Given the description of an element on the screen output the (x, y) to click on. 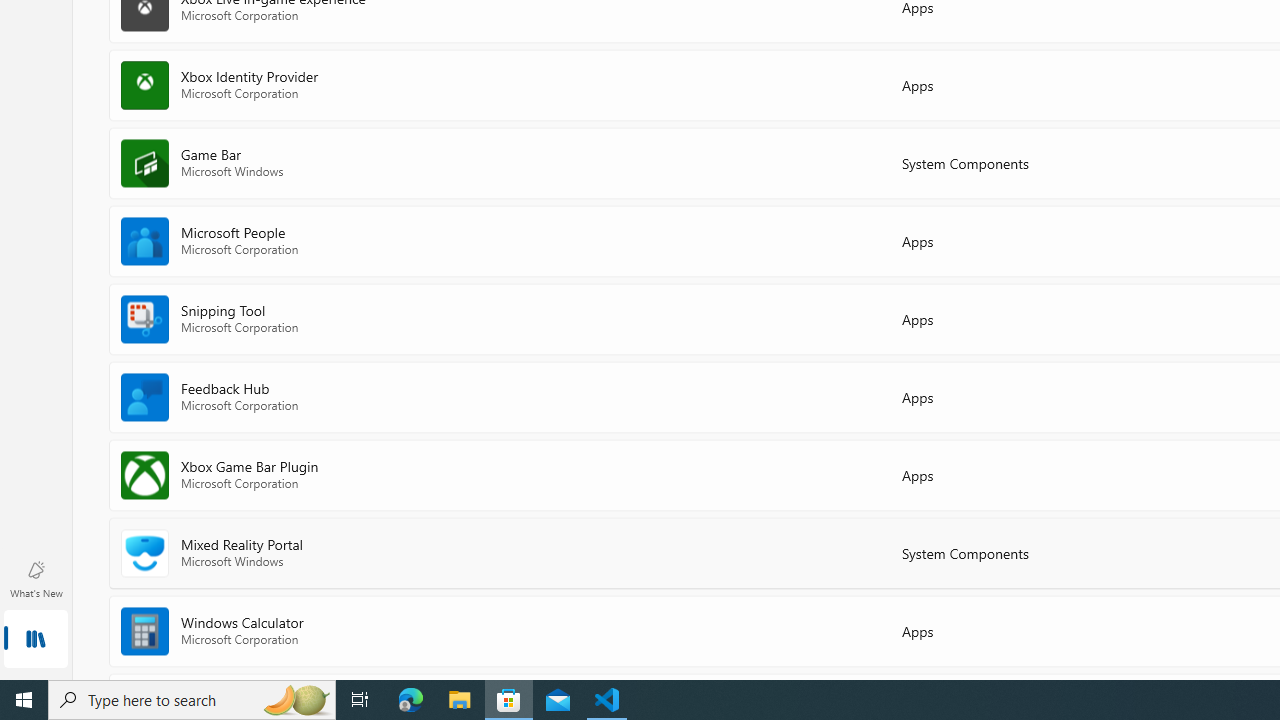
Library (35, 640)
What's New (35, 578)
